Given the description of an element on the screen output the (x, y) to click on. 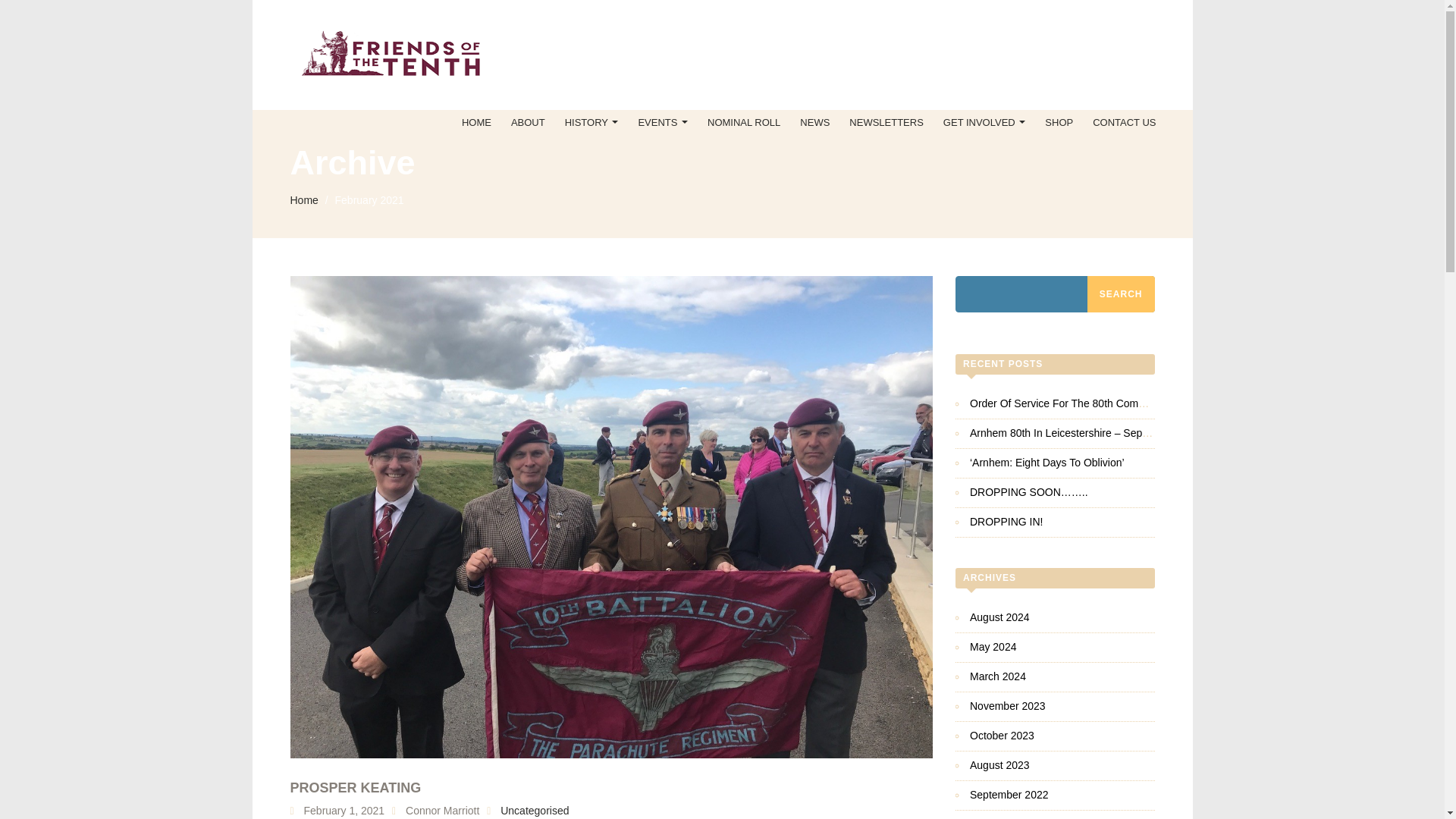
Home (475, 122)
Events (662, 122)
SHOP (1059, 122)
CONTACT US (1124, 122)
History (591, 122)
Nominal Roll (743, 122)
Uncategorised (534, 810)
News (815, 122)
EVENTS (662, 122)
Newsletters (886, 122)
